Given the description of an element on the screen output the (x, y) to click on. 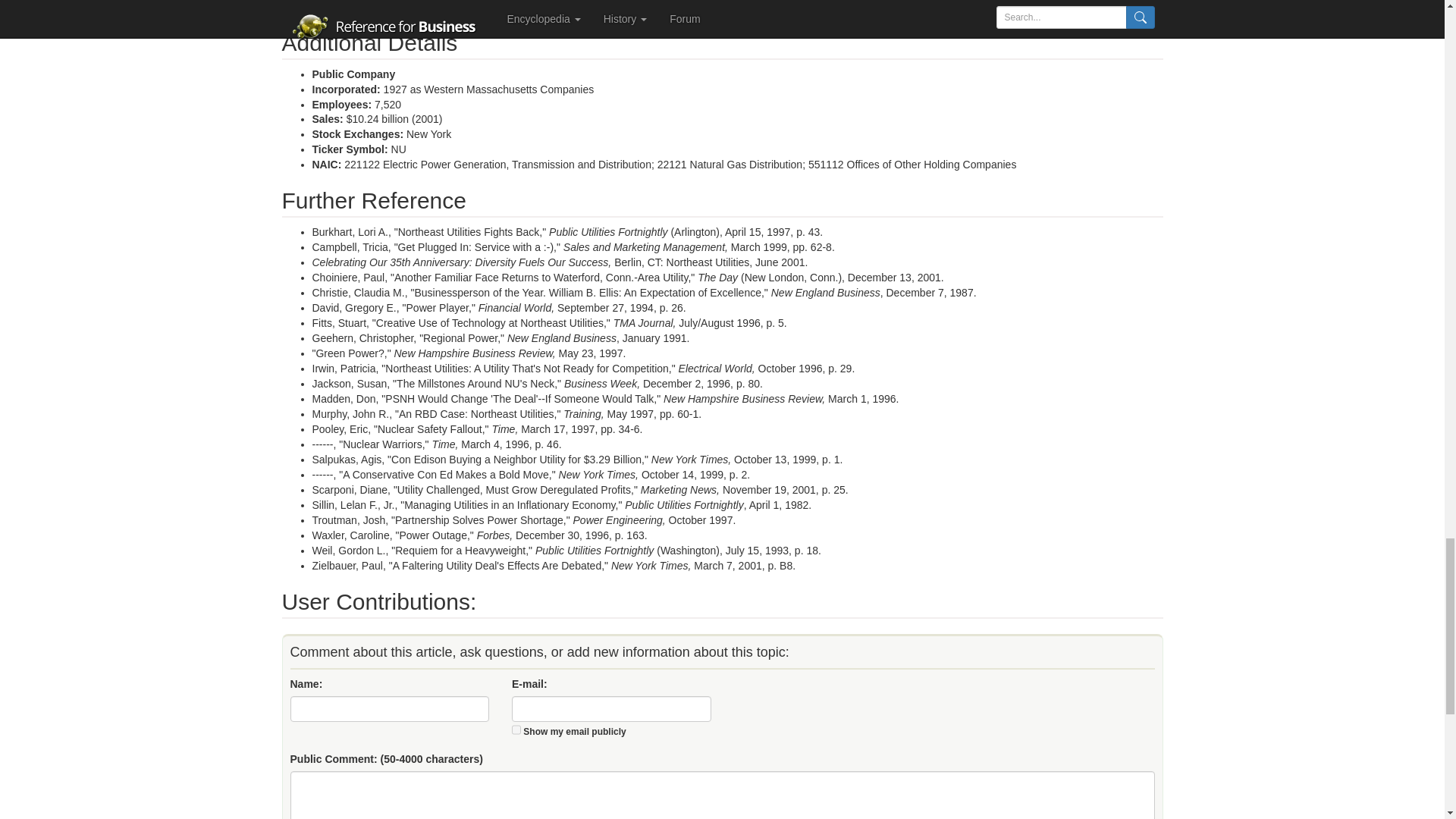
1 (516, 729)
